Given the description of an element on the screen output the (x, y) to click on. 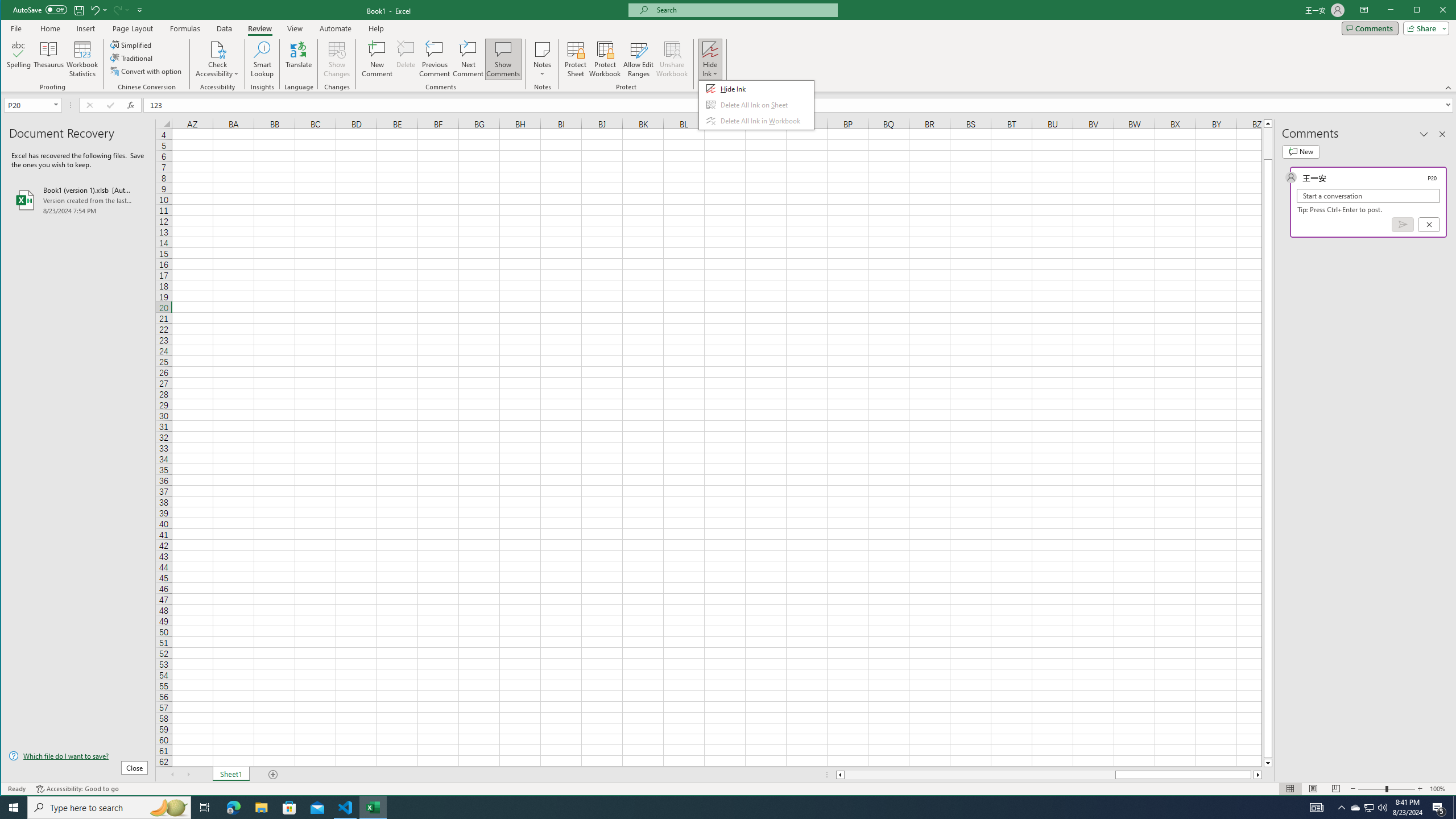
Smart Lookup (261, 59)
Cancel (1428, 224)
